Given the description of an element on the screen output the (x, y) to click on. 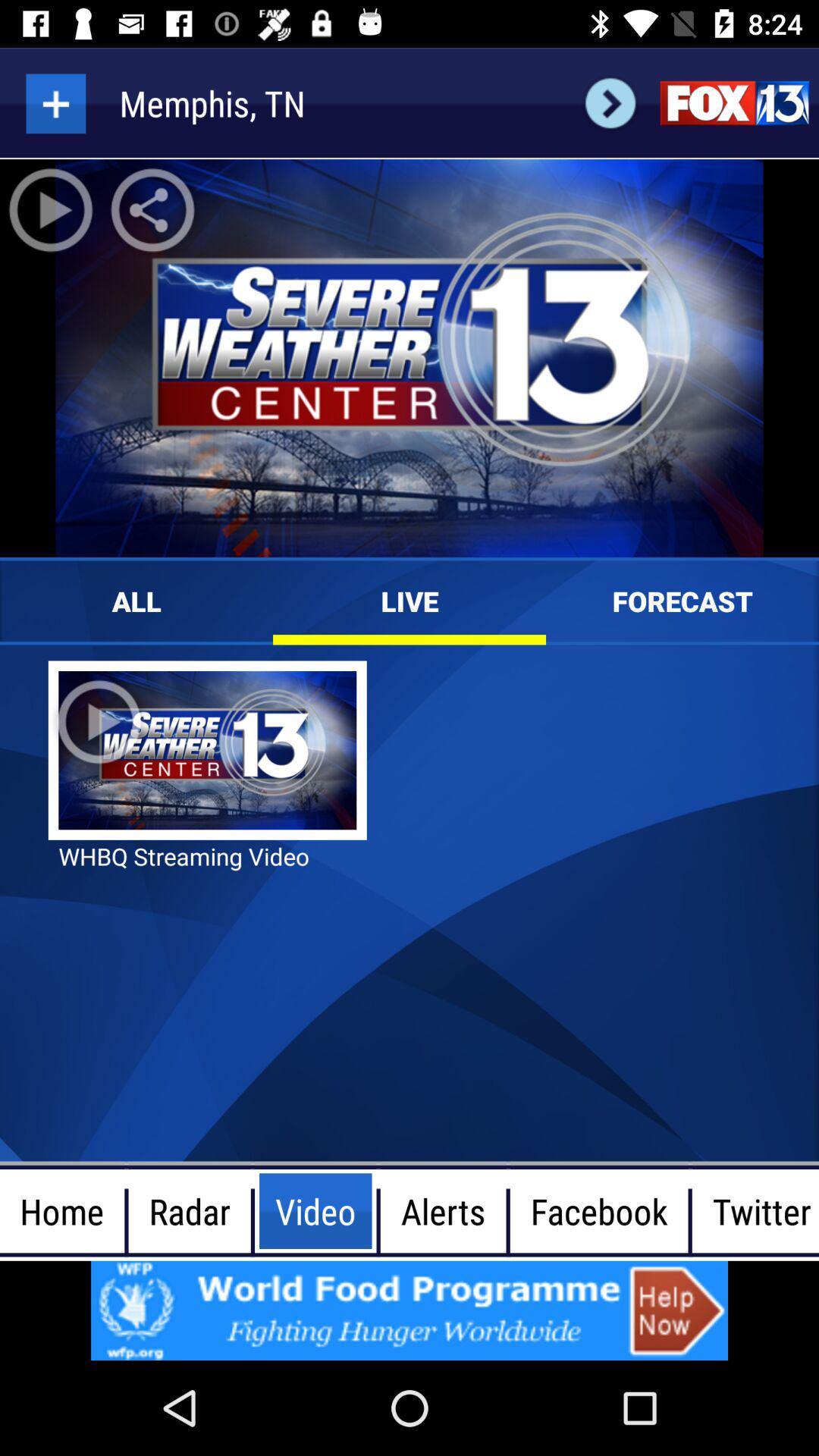
click arrow button (610, 103)
